Given the description of an element on the screen output the (x, y) to click on. 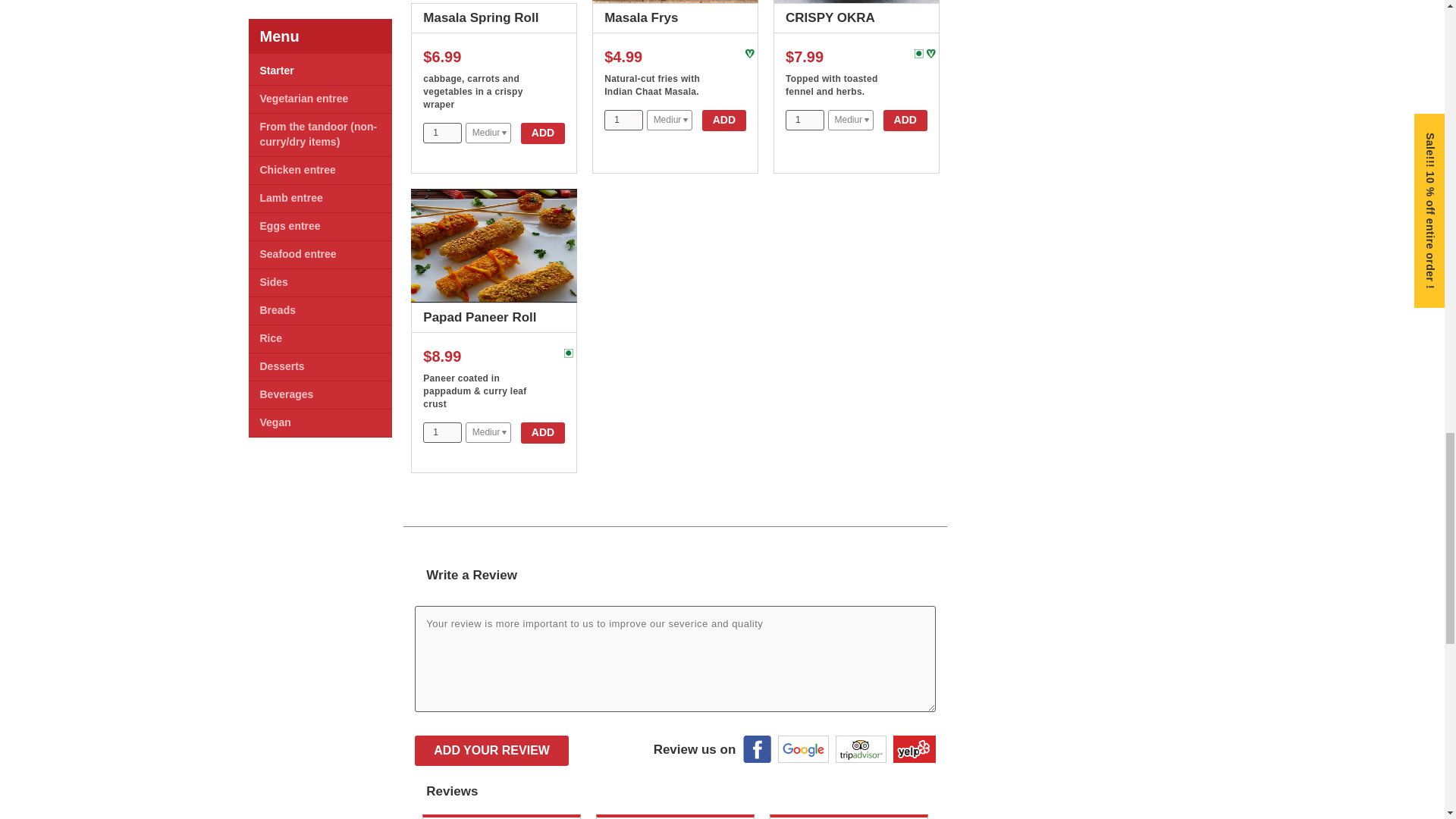
1 (442, 132)
1 (805, 119)
1 (442, 432)
1 (623, 119)
